Given the description of an element on the screen output the (x, y) to click on. 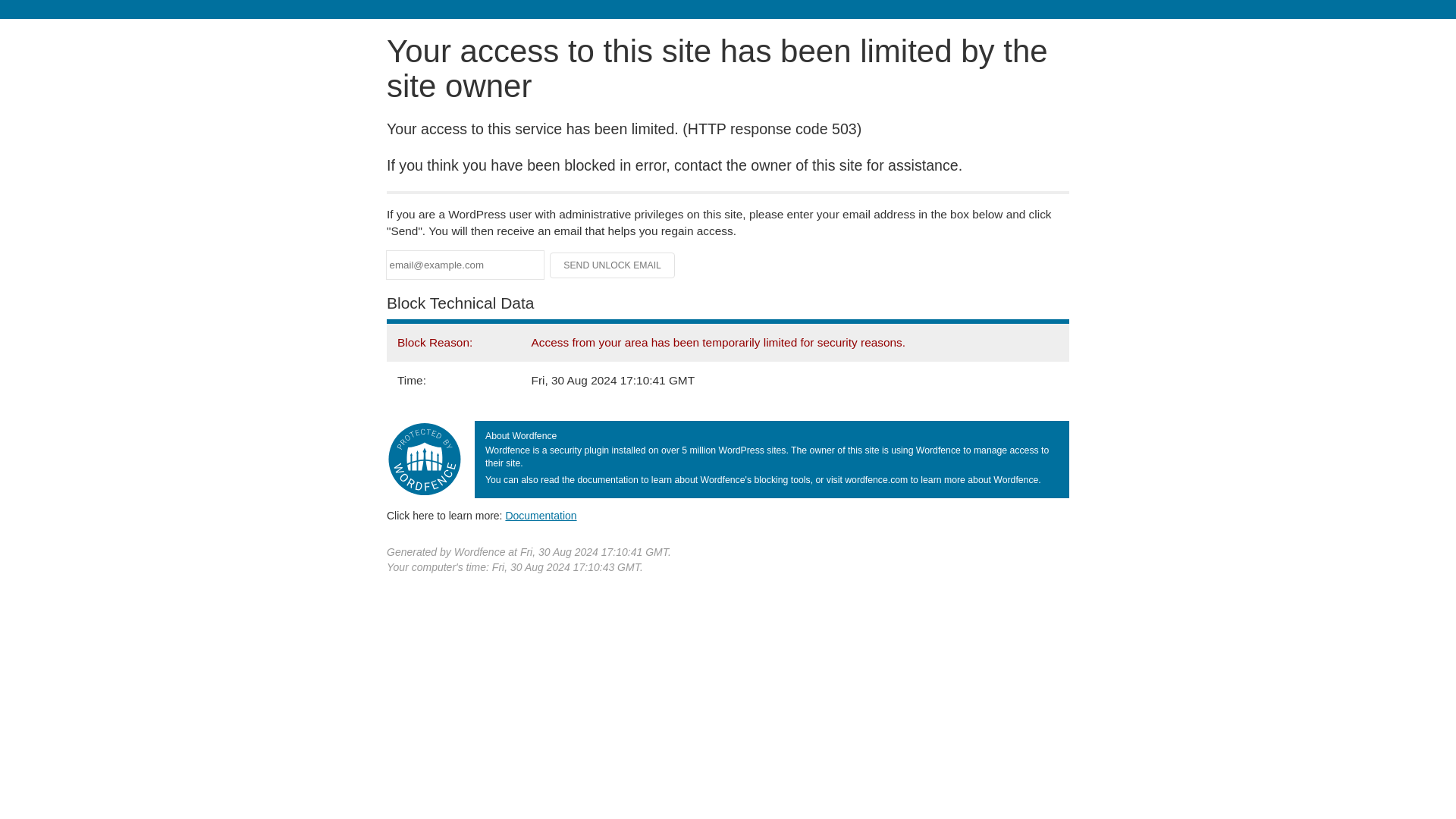
Send Unlock Email (612, 265)
Send Unlock Email (612, 265)
Documentation (540, 515)
